Given the description of an element on the screen output the (x, y) to click on. 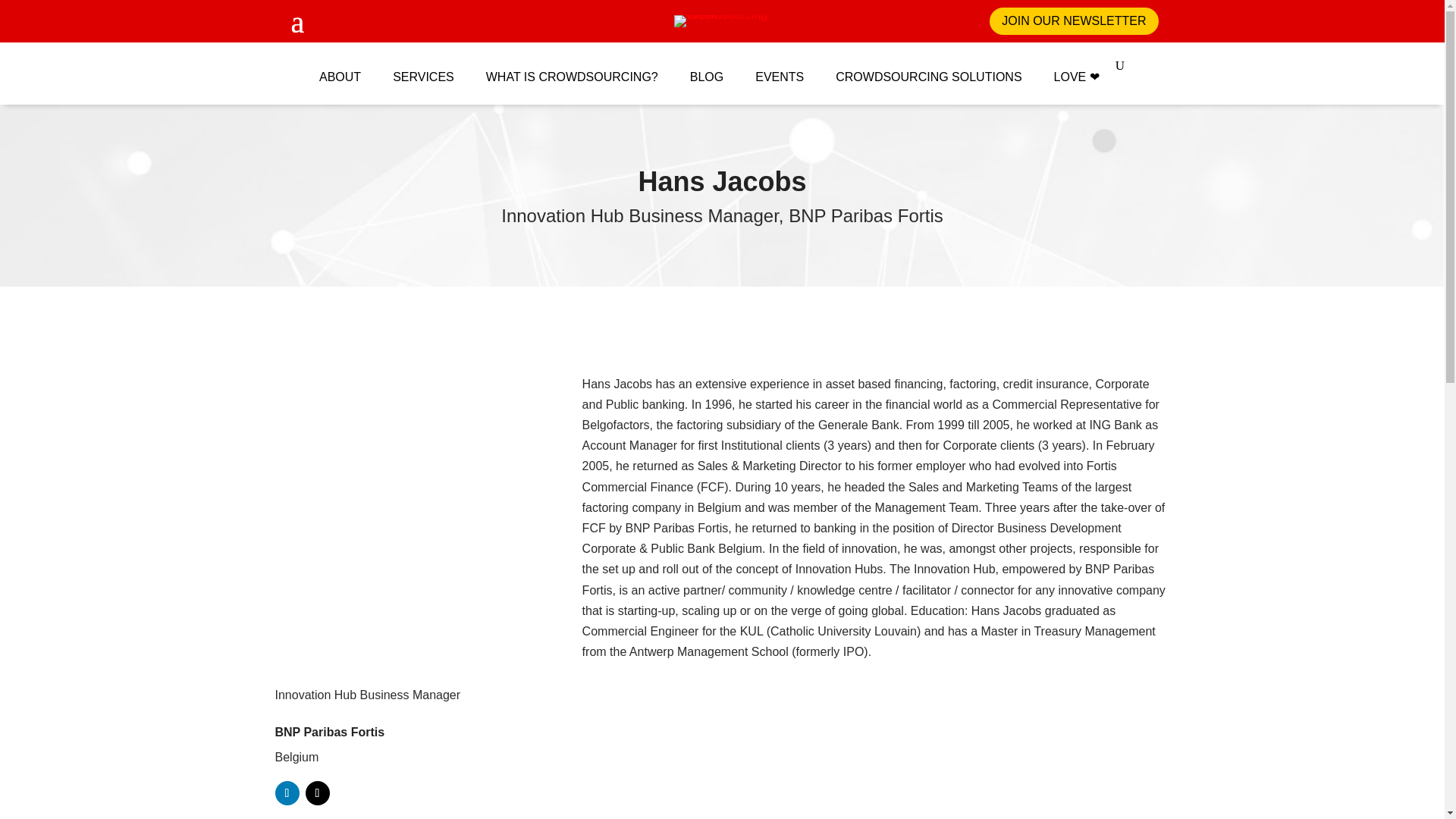
What is Crowdsourcing (572, 68)
Follow on LinkedIn (286, 793)
JOIN OUR NEWSLETTER (1073, 21)
Crowdsourcing Week (734, 21)
Crowdsourcing Solutions (928, 68)
Customer Love (1076, 68)
About (339, 68)
WHAT IS CROWDSOURCING? (572, 68)
ABOUT (339, 68)
Services (423, 68)
